Given the description of an element on the screen output the (x, y) to click on. 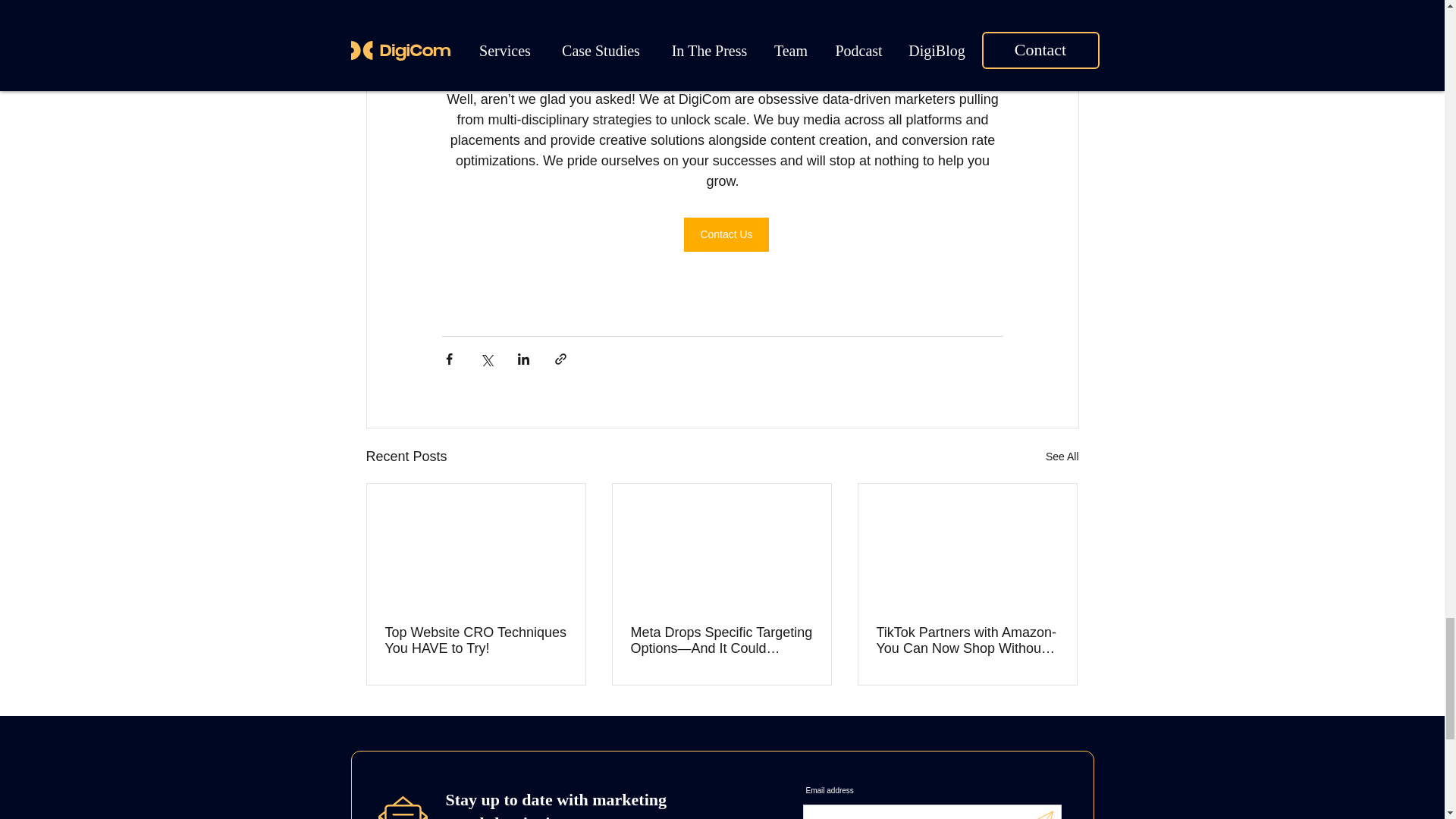
Contact Us (726, 234)
Top Website CRO Techniques You HAVE to Try! (476, 640)
See All (1061, 456)
